Given the description of an element on the screen output the (x, y) to click on. 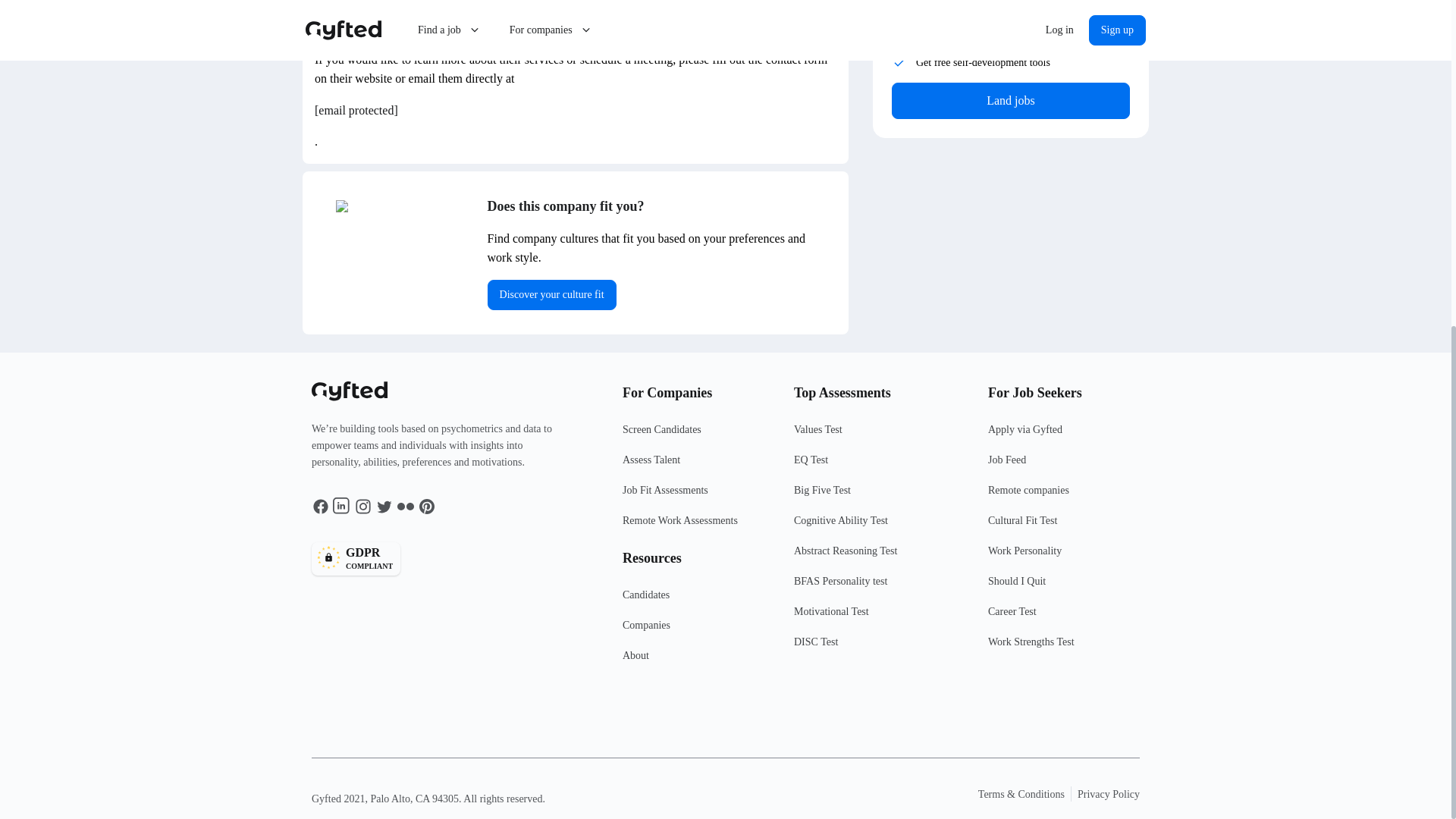
About (698, 662)
Assess Talent (442, 558)
Screen Candidates (698, 466)
Remote Work Assessments (698, 435)
Job Fit Assessments (698, 526)
EQ Test (698, 496)
Companies (880, 466)
Big Five Test (698, 631)
Discover your culture fit (880, 496)
Values Test (551, 295)
Land jobs (880, 435)
Candidates (1010, 100)
